Given the description of an element on the screen output the (x, y) to click on. 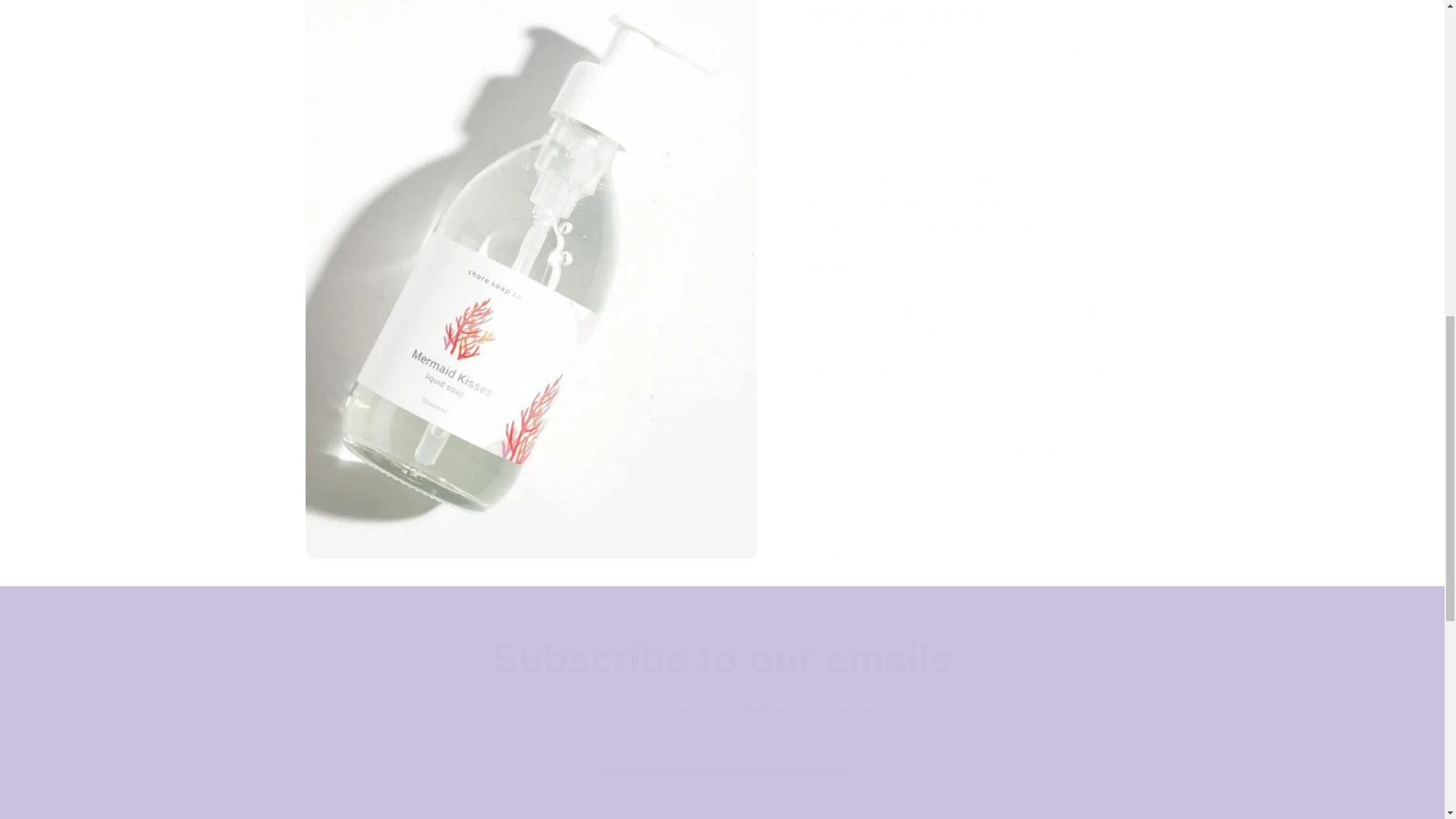
Subscribe to our emails (721, 658)
Open media 1 in modal (529, 22)
Email (722, 753)
